Given the description of an element on the screen output the (x, y) to click on. 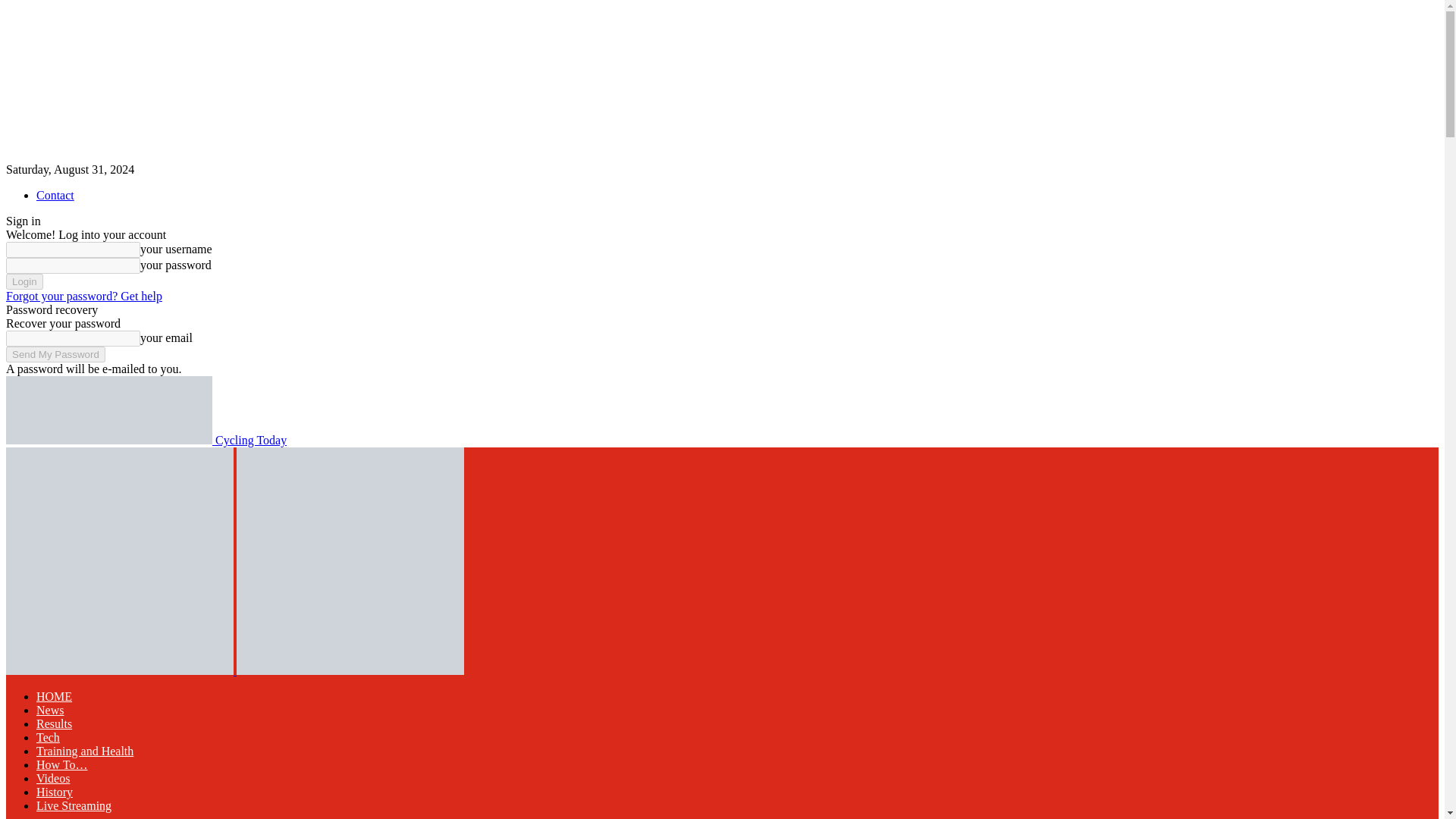
Videos (52, 778)
History (54, 791)
Forgot your password? Get help (83, 295)
HOME (53, 696)
Send My Password (54, 354)
Cycling Today (145, 440)
Results (53, 723)
Training and Health (84, 750)
Login (24, 281)
News (50, 709)
